Given the description of an element on the screen output the (x, y) to click on. 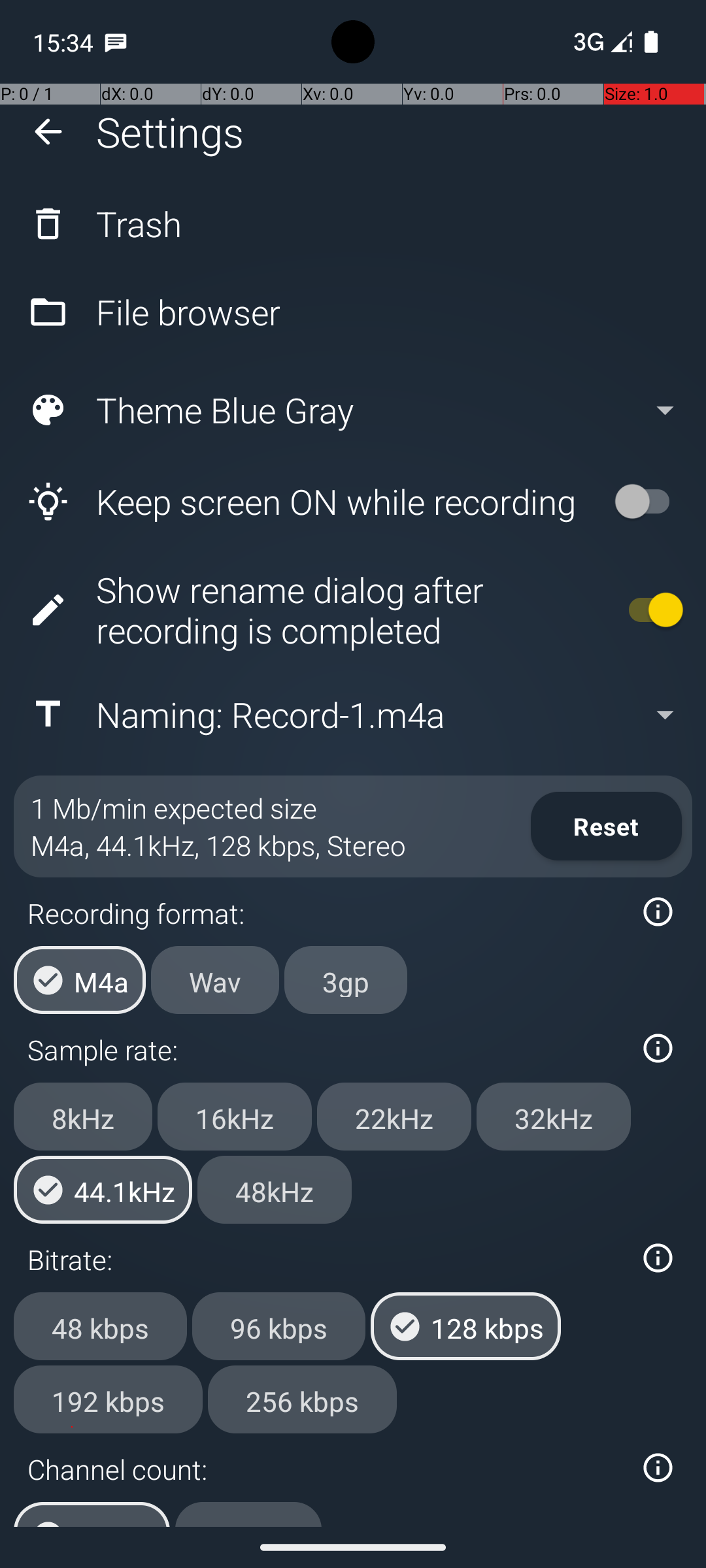
Settings Element type: android.widget.TextView (169, 131)
Trash Element type: android.widget.TextView (353, 223)
File browser Element type: android.widget.TextView (353, 311)
Keep screen ON while recording Element type: android.widget.TextView (304, 501)
Show rename dialog after recording is completed Element type: android.widget.TextView (304, 609)
M4a, 44.1kHz, 128 kbps, Stereo Element type: android.widget.TextView (217, 844)
SMS Messenger notification: Petar Gonzalez Element type: android.widget.ImageView (115, 41)
Phone two bars. Element type: android.widget.FrameLayout (600, 41)
